Given the description of an element on the screen output the (x, y) to click on. 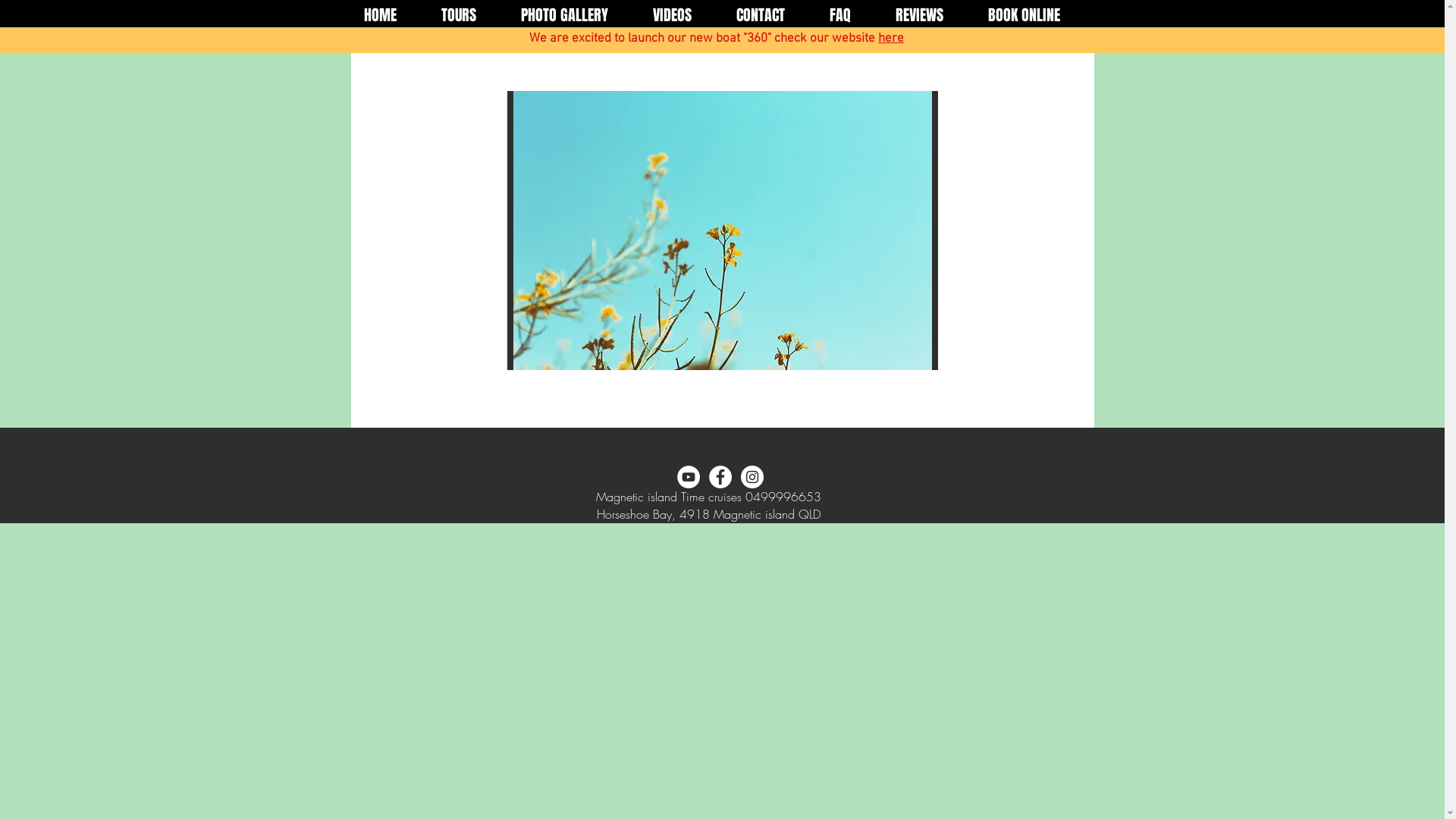
here Element type: text (890, 38)
REVIEWS Element type: text (919, 15)
VIDEOS Element type: text (672, 15)
FAQ Element type: text (839, 15)
HOME Element type: text (379, 15)
BOOK ONLINE Element type: text (1024, 15)
